Given the description of an element on the screen output the (x, y) to click on. 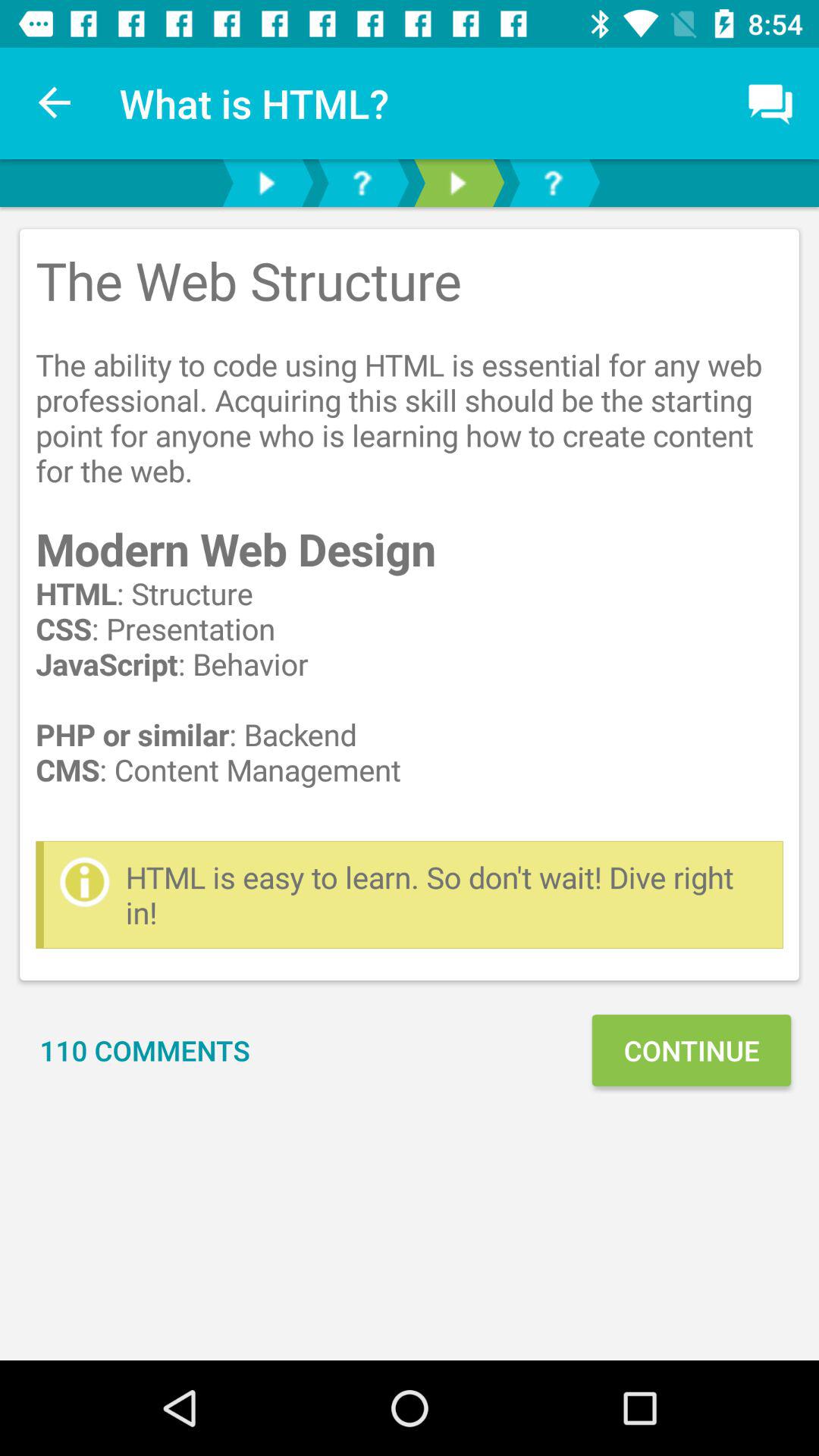
select icon to the left of the continue item (144, 1050)
